Given the description of an element on the screen output the (x, y) to click on. 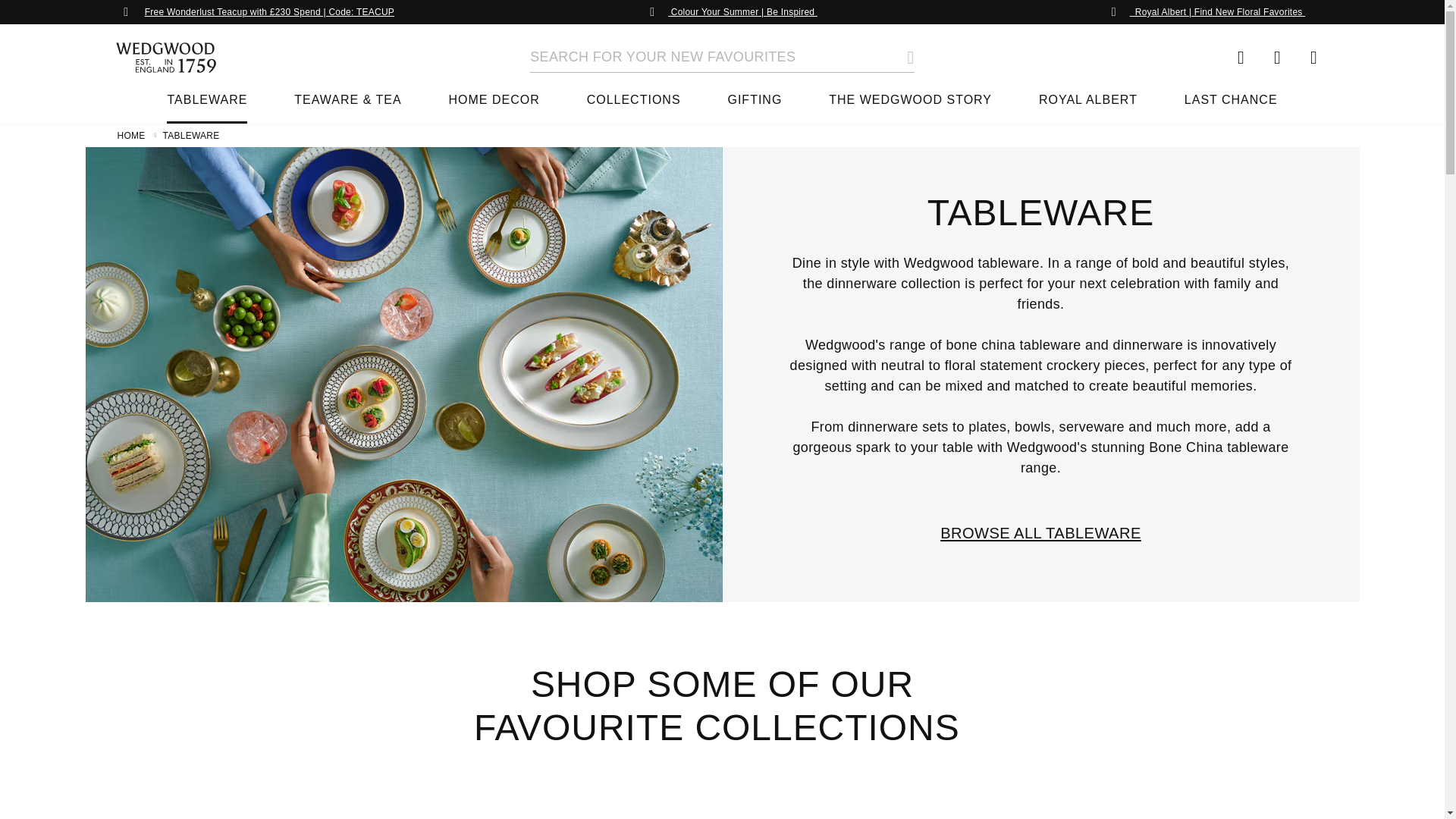
Shopping cart (1313, 57)
Global gateway (1240, 57)
Login (1277, 57)
